Given the description of an element on the screen output the (x, y) to click on. 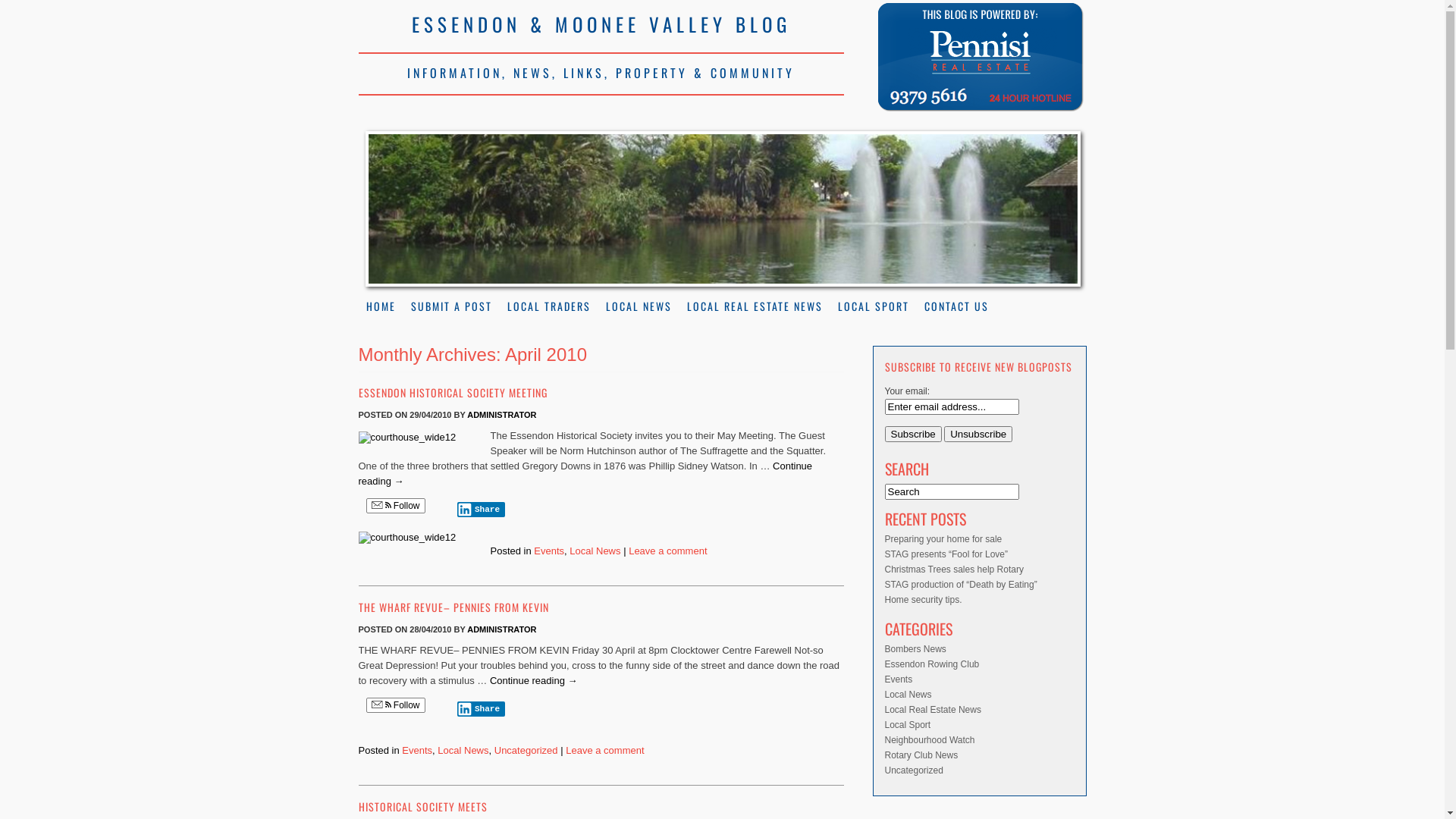
Follow Element type: text (394, 505)
Preparing your home for sale Element type: text (942, 538)
LOCAL NEWS Element type: text (638, 305)
ADMINISTRATOR Element type: text (501, 414)
Share Element type: text (480, 708)
CONTACT US Element type: text (955, 305)
courthouse_wide12 Element type: hover (414, 437)
Subscribe Element type: text (912, 434)
Essendon Rowing Club Element type: text (931, 663)
INFORMATION, NEWS, LINKS, PROPERTY & COMMUNITY Element type: text (600, 74)
Uncategorized Element type: text (526, 750)
Share Element type: text (480, 509)
Events Element type: text (898, 679)
ESSENDON & MOONEE VALLEY BLOG Element type: text (600, 26)
Local Real Estate News Element type: text (932, 709)
Rotary Club News Element type: text (920, 754)
ADMINISTRATOR Element type: text (501, 628)
Neighbourhood Watch Element type: text (929, 739)
Events Element type: text (416, 750)
Follow Element type: text (394, 704)
Local News Element type: text (907, 694)
Unsubscribe Element type: text (978, 434)
SUBMIT A POST Element type: text (451, 305)
Uncategorized Element type: text (913, 770)
Home security tips. Element type: text (922, 599)
Local News Element type: text (594, 550)
LOCAL REAL ESTATE NEWS Element type: text (754, 305)
Local News Element type: text (462, 750)
Bombers News Element type: text (914, 648)
LOCAL SPORT Element type: text (872, 305)
ESSENDON HISTORICAL SOCIETY MEETING Element type: text (600, 396)
Email, RSS Element type: hover (381, 705)
LOCAL TRADERS Element type: text (547, 305)
HOME Element type: text (380, 305)
Local Sport Element type: text (907, 724)
courthouse_wide12 Element type: hover (414, 537)
Christmas Trees sales help Rotary Element type: text (953, 569)
Events Element type: text (548, 550)
Email, RSS Element type: hover (381, 506)
Leave a comment Element type: text (604, 750)
Leave a comment Element type: text (667, 550)
